Given the description of an element on the screen output the (x, y) to click on. 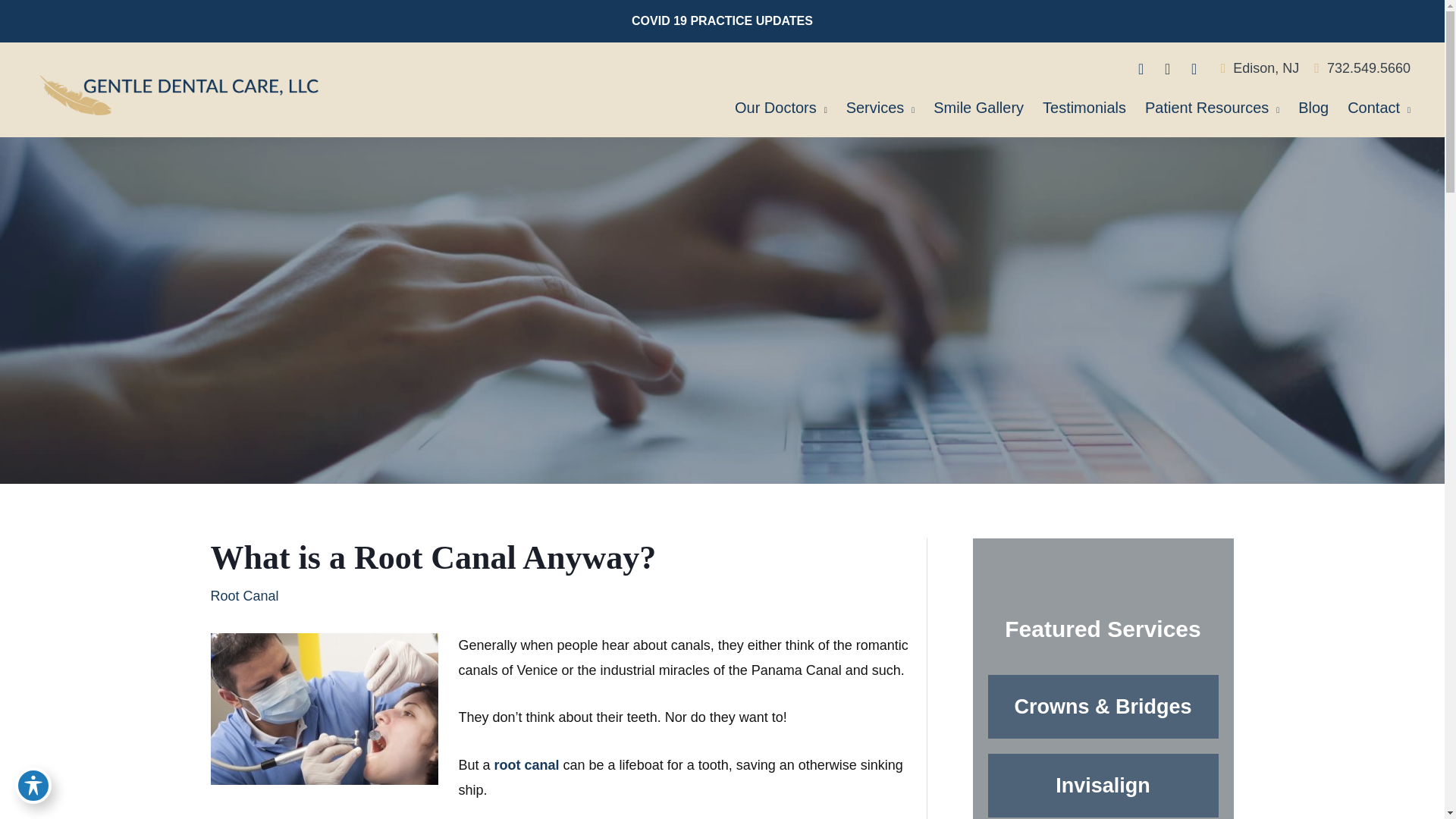
732.549.5660 (1362, 68)
Testimonials (1090, 110)
Edison, NJ (1260, 68)
COVID 19 PRACTICE UPDATES (721, 21)
Smile Gallery (984, 110)
Our Doctors (786, 110)
Services (886, 110)
